Given the description of an element on the screen output the (x, y) to click on. 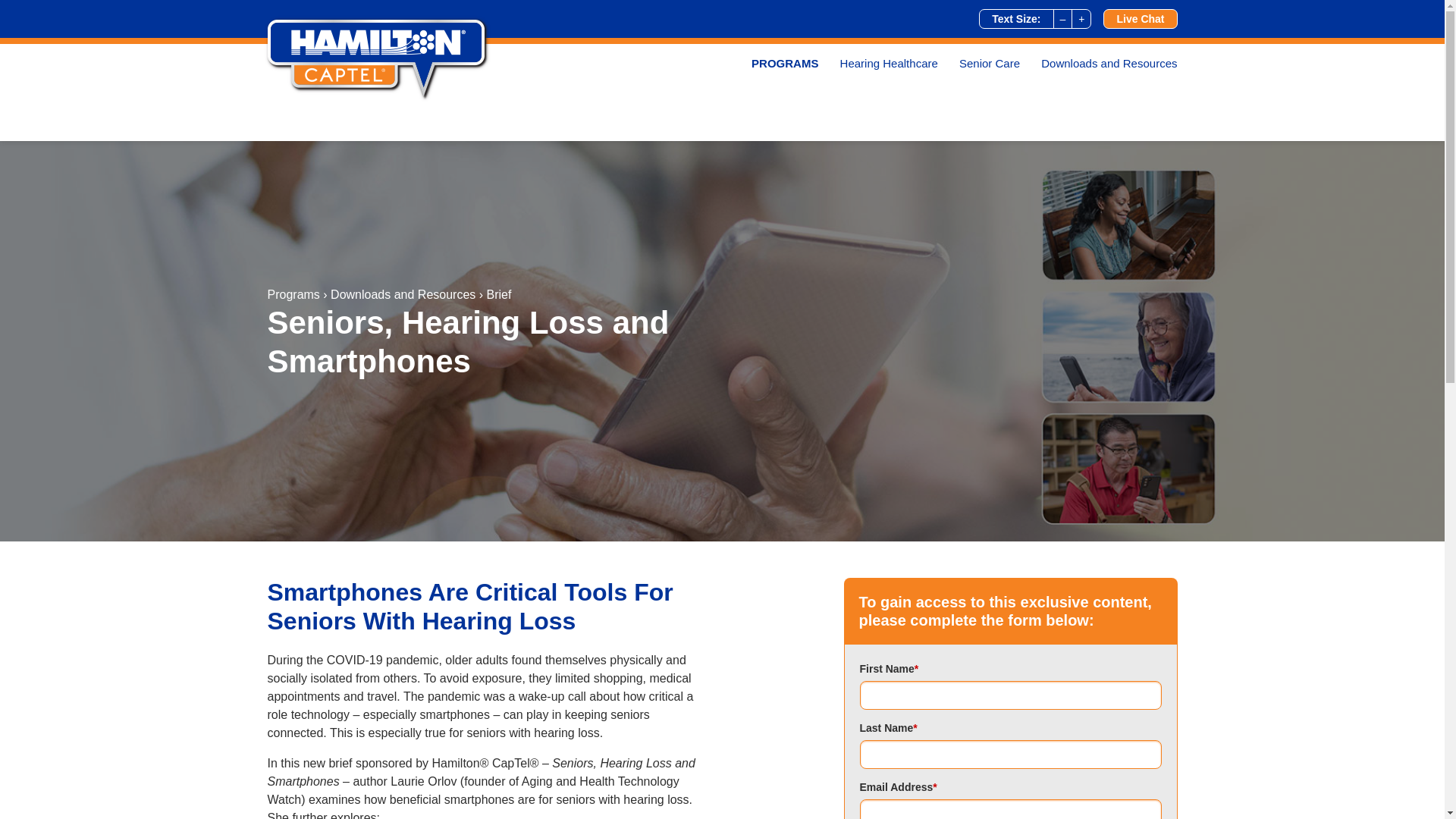
Senior Care (994, 66)
Decrease page text size (1061, 18)
HHC Content Hub (377, 58)
Downloads and Resources (1113, 66)
Live Chat (1139, 18)
PROGRAMS (789, 66)
Chat with a Hamilton CapTel support agent now (1139, 18)
Programs (292, 294)
HHC Content Hub (377, 58)
Hearing Healthcare (893, 66)
